Given the description of an element on the screen output the (x, y) to click on. 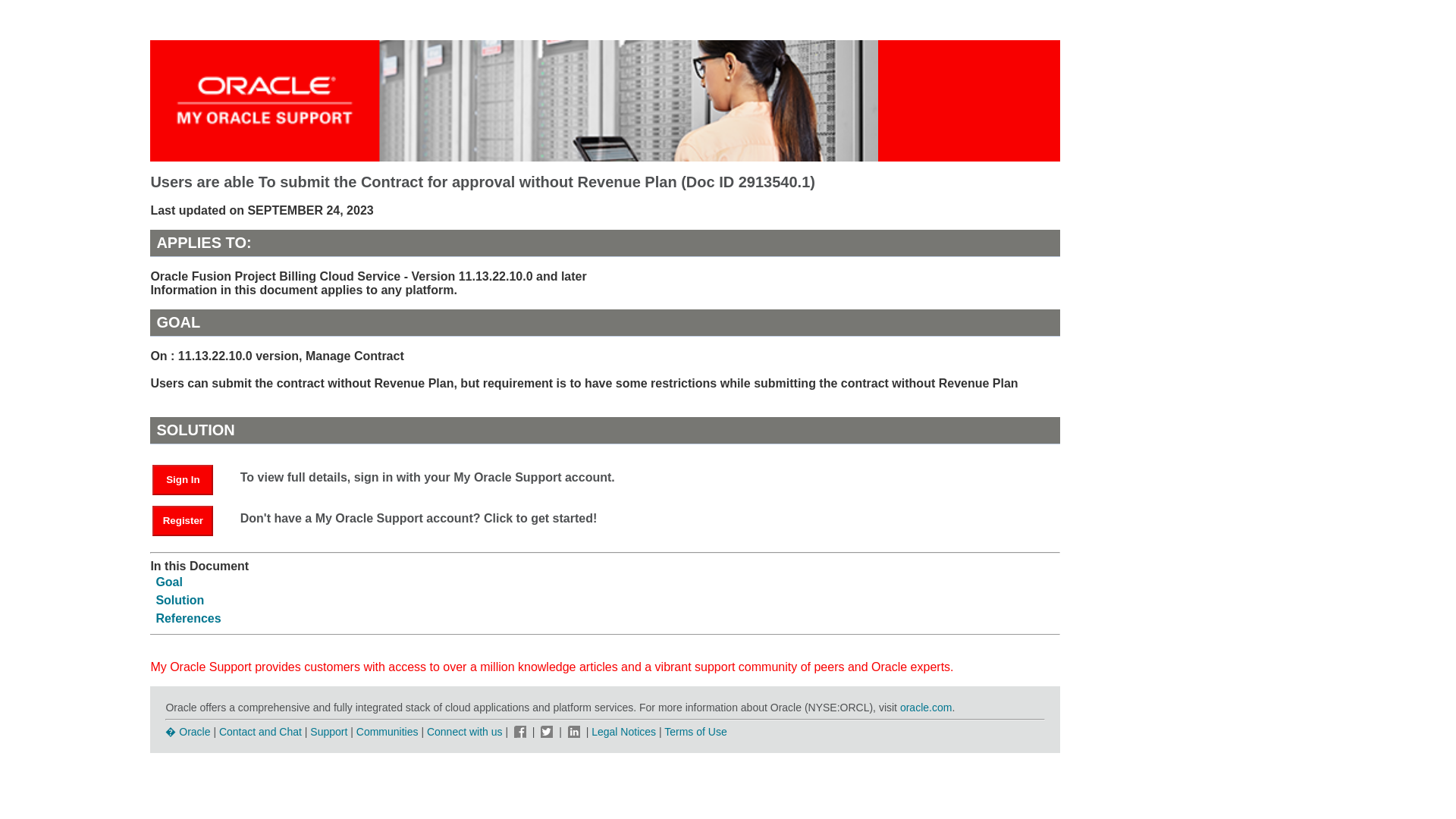
Register (190, 519)
Sign In (190, 478)
oracle.com (925, 707)
References (188, 617)
oracle.com (925, 707)
Legal Notices (623, 731)
Terms of Use (694, 731)
Contact and Chat (260, 731)
Goal (169, 581)
Communities (387, 731)
Register (182, 521)
Solution (179, 599)
Support (328, 731)
Sign In (182, 480)
Connect with us (465, 731)
